Given the description of an element on the screen output the (x, y) to click on. 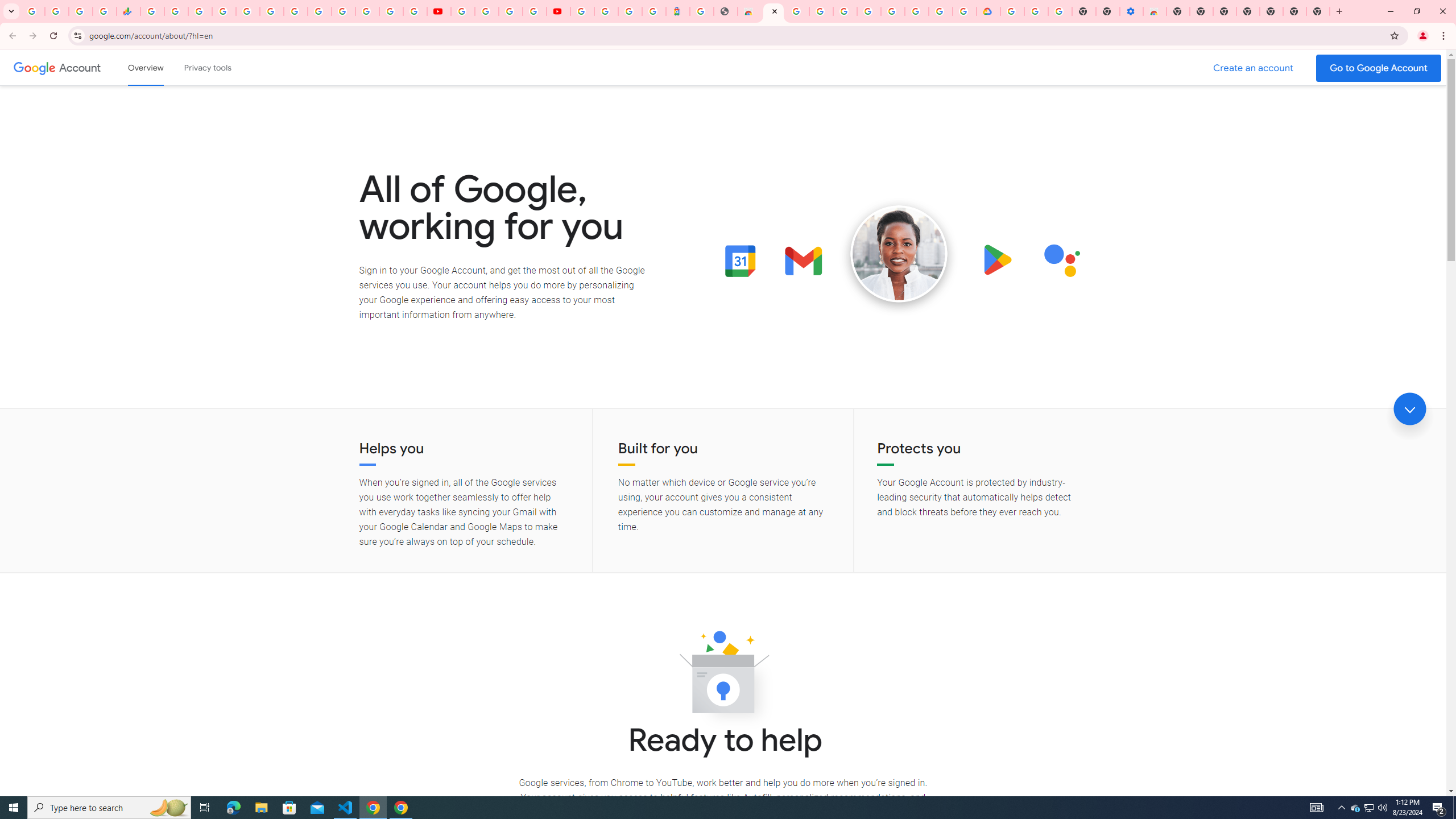
Android TV Policies and Guidelines - Transparency Center (295, 11)
Google Workspace Admin Community (32, 11)
Create a Google Account (1253, 67)
Google logo (34, 67)
Privacy tools (207, 67)
